Given the description of an element on the screen output the (x, y) to click on. 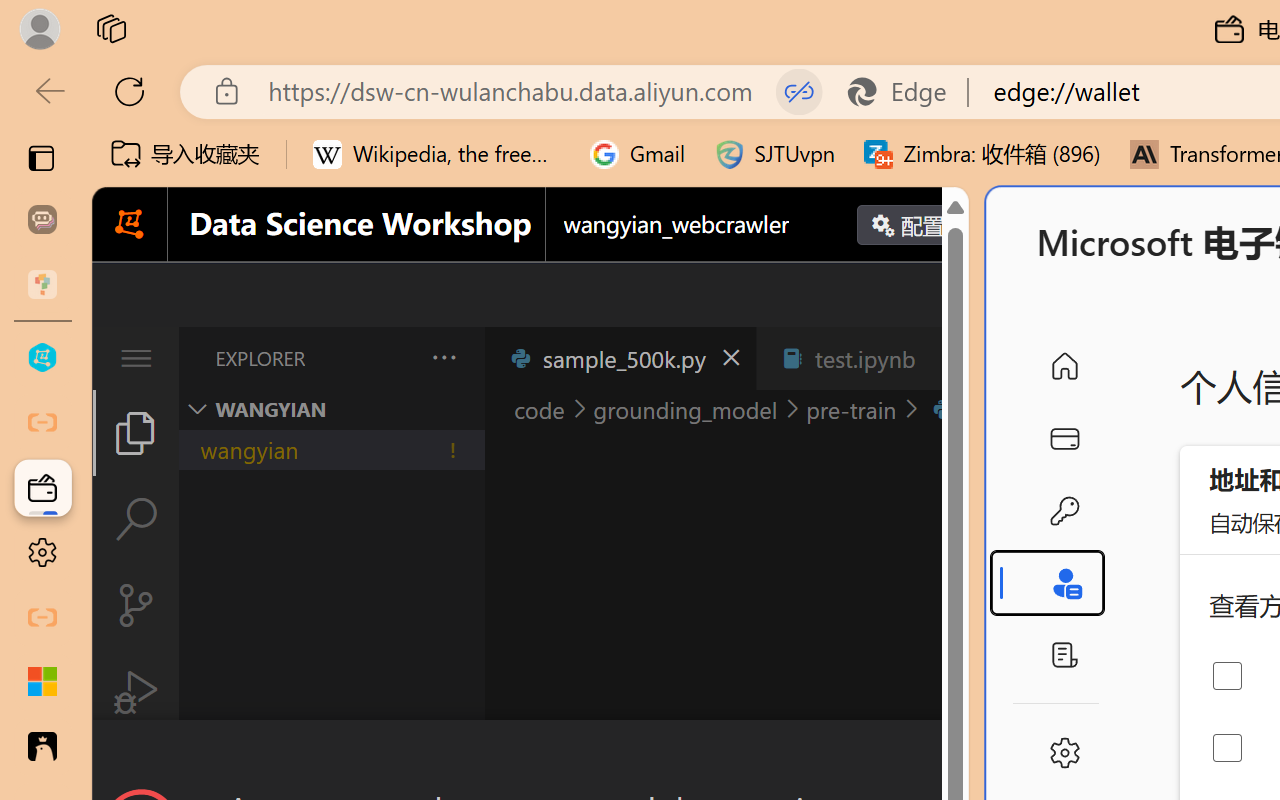
Edge (905, 91)
Application Menu (135, 358)
Class: actions-container (529, 756)
test.ipynb (864, 358)
Adjust indents and spacing - Microsoft Support (42, 681)
Run and Debug (Ctrl+Shift+D) (135, 692)
wangyian_dsw - DSW (42, 357)
Tab actions (945, 358)
